Given the description of an element on the screen output the (x, y) to click on. 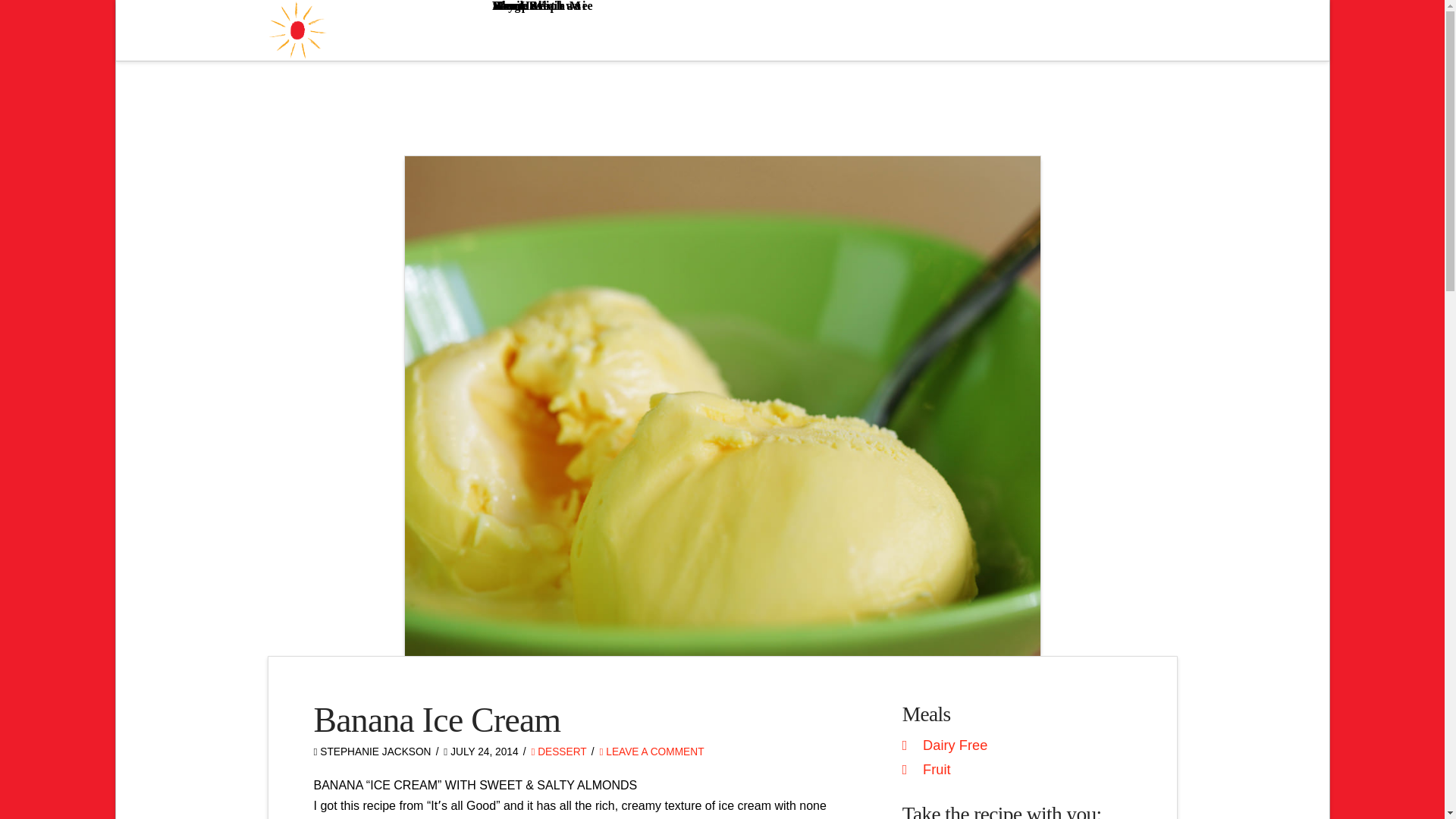
DESSERT (558, 751)
LEAVE A COMMENT (650, 751)
Fruit (936, 769)
Dairy Free (955, 744)
